Given the description of an element on the screen output the (x, y) to click on. 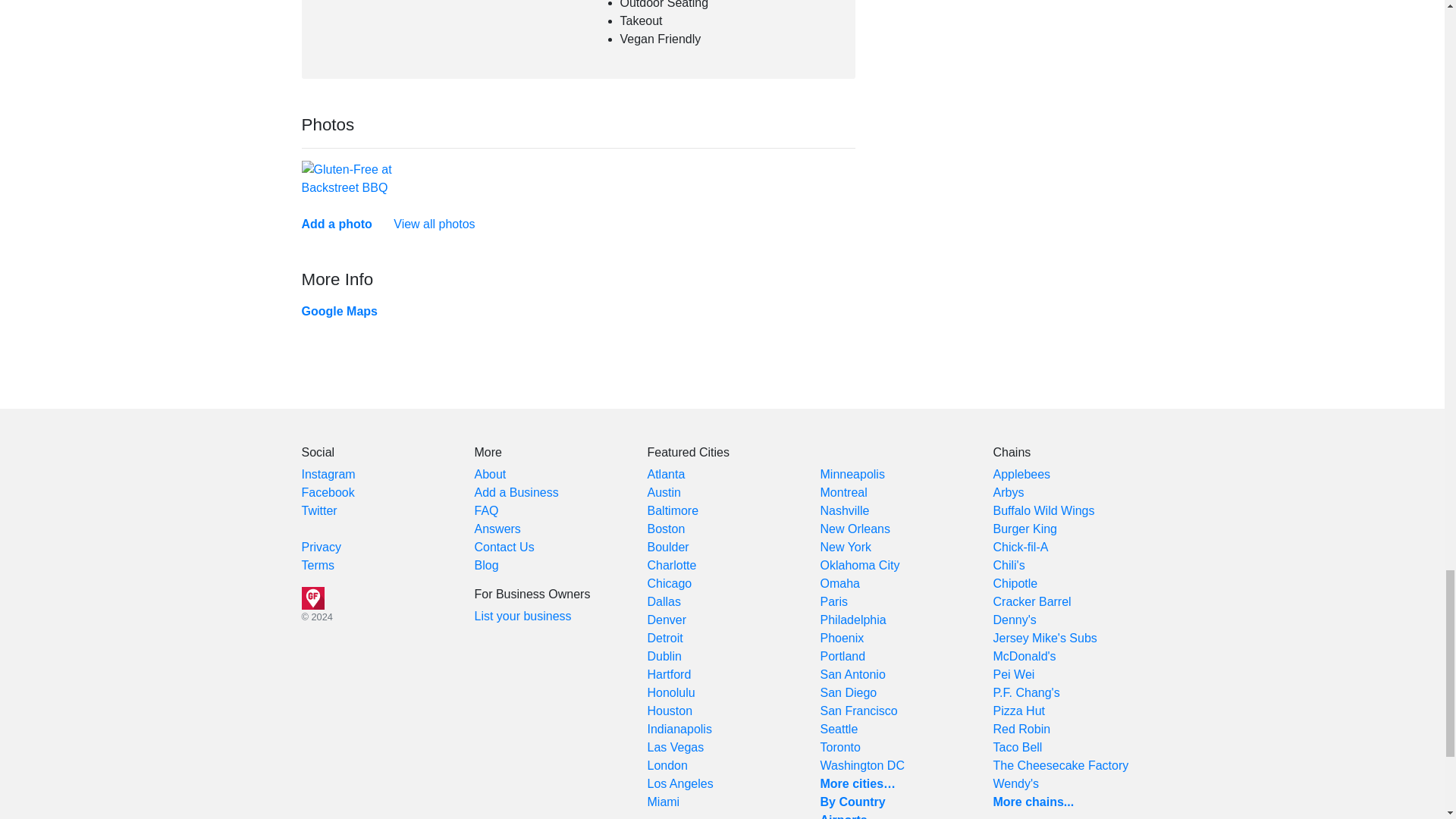
Instagram (328, 473)
Google Maps (339, 310)
Add a photo (336, 223)
Terms (317, 564)
Privacy (320, 546)
Twitter (319, 510)
View all photos (433, 223)
Facebook (328, 492)
